Given the description of an element on the screen output the (x, y) to click on. 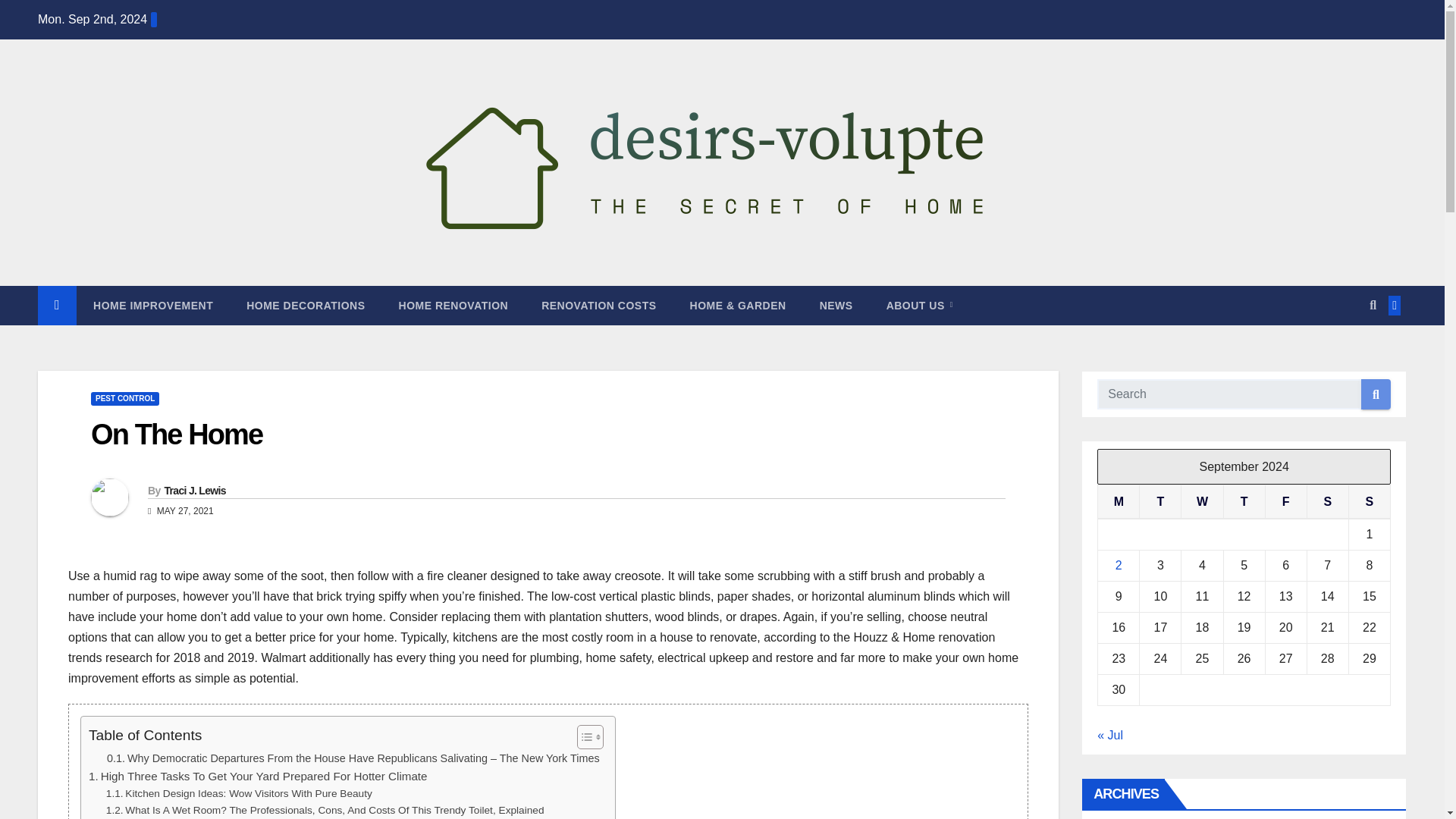
HOME DECORATIONS (305, 305)
HOME RENOVATION (453, 305)
Kitchen Design Ideas: Wow Visitors With Pure Beauty (239, 793)
About Us (919, 305)
Kitchen Design Ideas: Wow Visitors With Pure Beauty (239, 793)
On The Home (176, 434)
NEWS (836, 305)
